Given the description of an element on the screen output the (x, y) to click on. 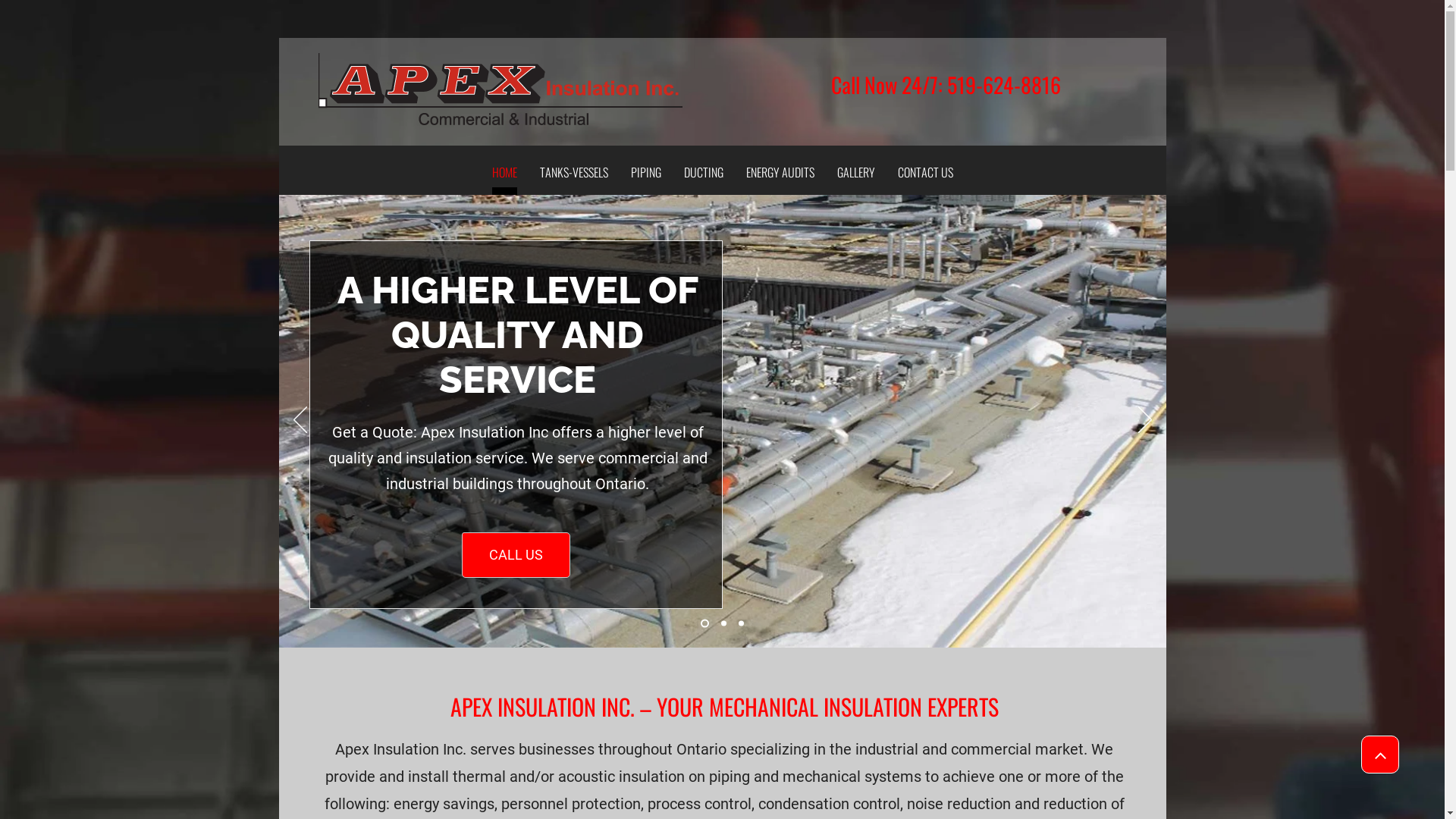
HOME Element type: text (503, 177)
519-624-8816 Element type: text (1003, 84)
CONTACT US Element type: text (925, 174)
PIPING Element type: text (645, 174)
GALLERY Element type: text (856, 174)
TANKS-VESSELS Element type: text (573, 174)
CALL US Element type: text (515, 554)
ENERGY AUDITS Element type: text (780, 174)
DUCTING Element type: text (703, 174)
